Given the description of an element on the screen output the (x, y) to click on. 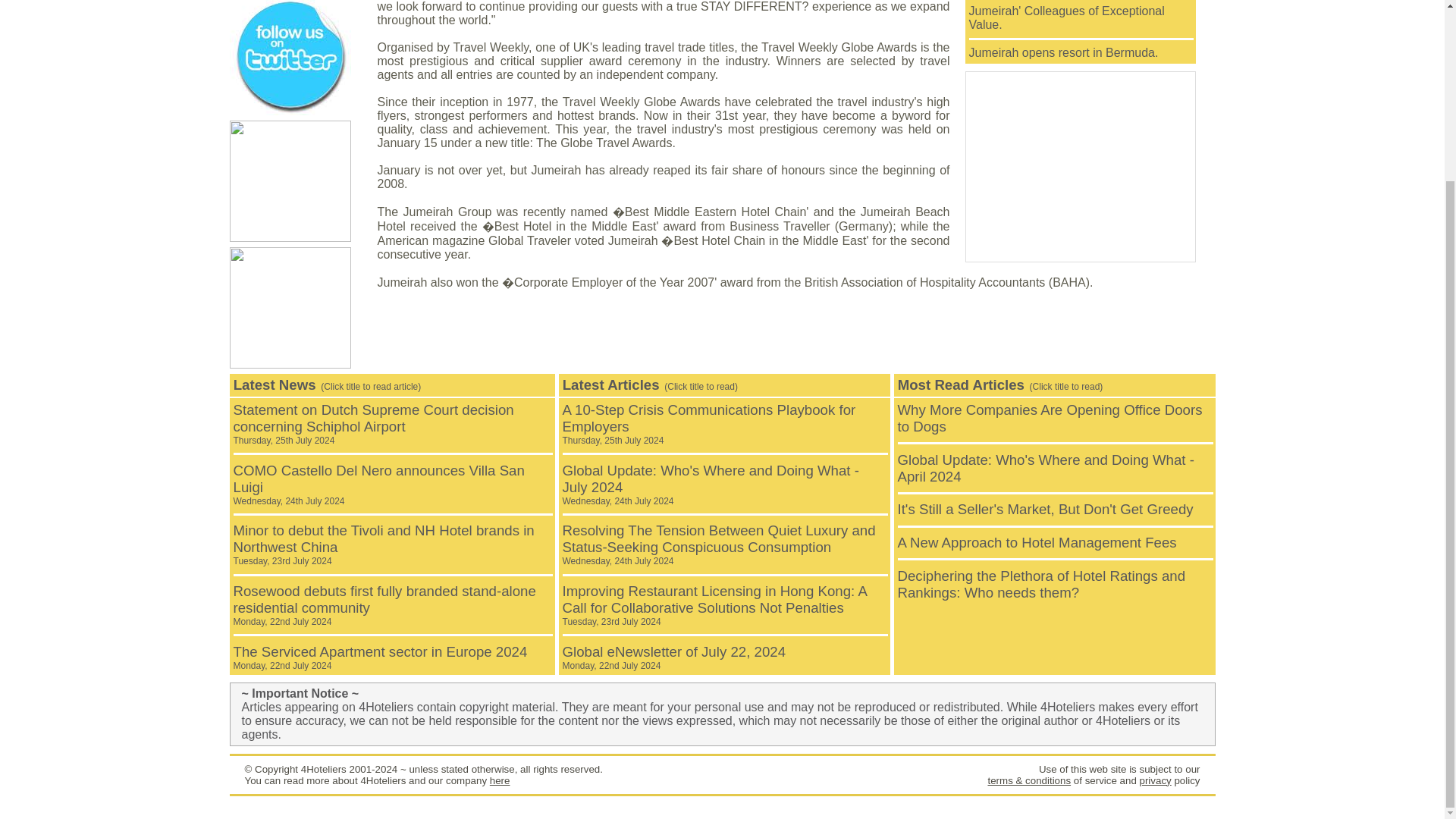
Jumeirah opens resort in Bermuda. (1063, 51)
Click to read article (709, 424)
Click to read article (1050, 418)
here (500, 780)
Why More Companies Are Opening Office Doors to Dogs (1050, 418)
privacy (1154, 780)
Click to read article (1063, 51)
Click to read article (378, 484)
Click to read article (714, 605)
Click to read article (674, 657)
Click to read article (1045, 508)
